Given the description of an element on the screen output the (x, y) to click on. 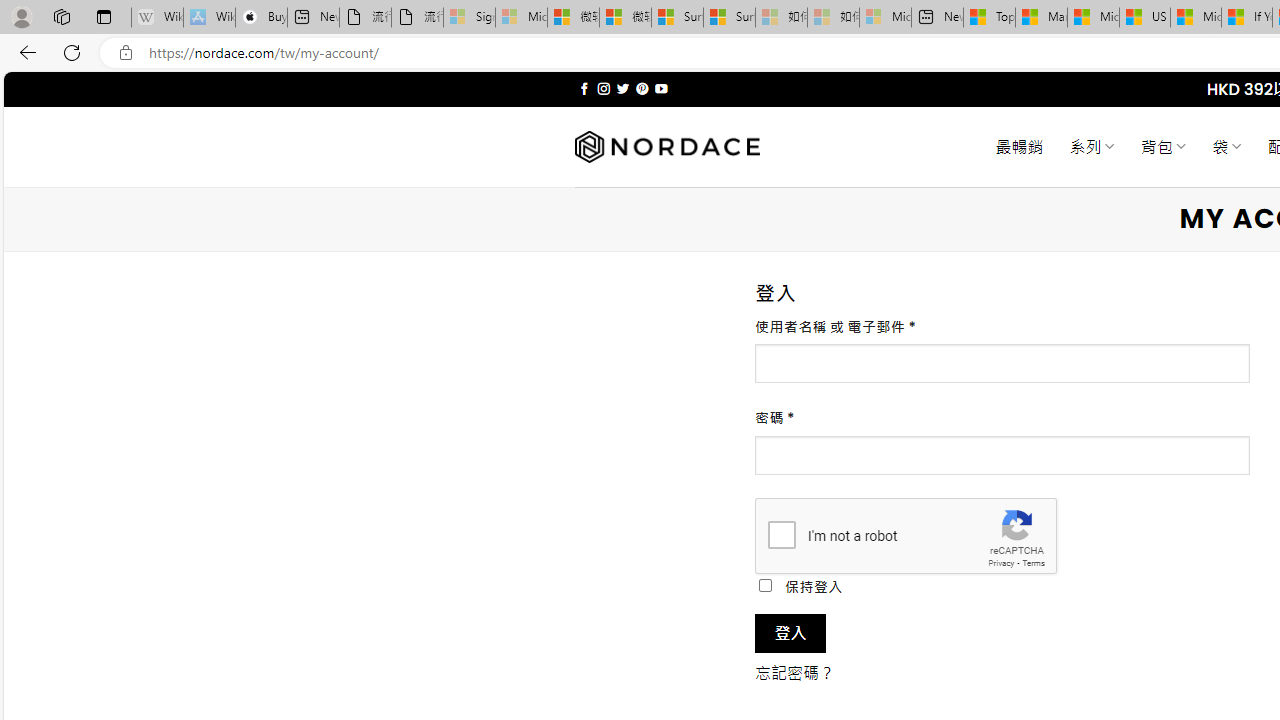
Marine life - MSN (1041, 17)
Microsoft Services Agreement - Sleeping (520, 17)
Follow on Twitter (621, 88)
Follow on Instagram (603, 88)
Buy iPad - Apple (260, 17)
